Given the description of an element on the screen output the (x, y) to click on. 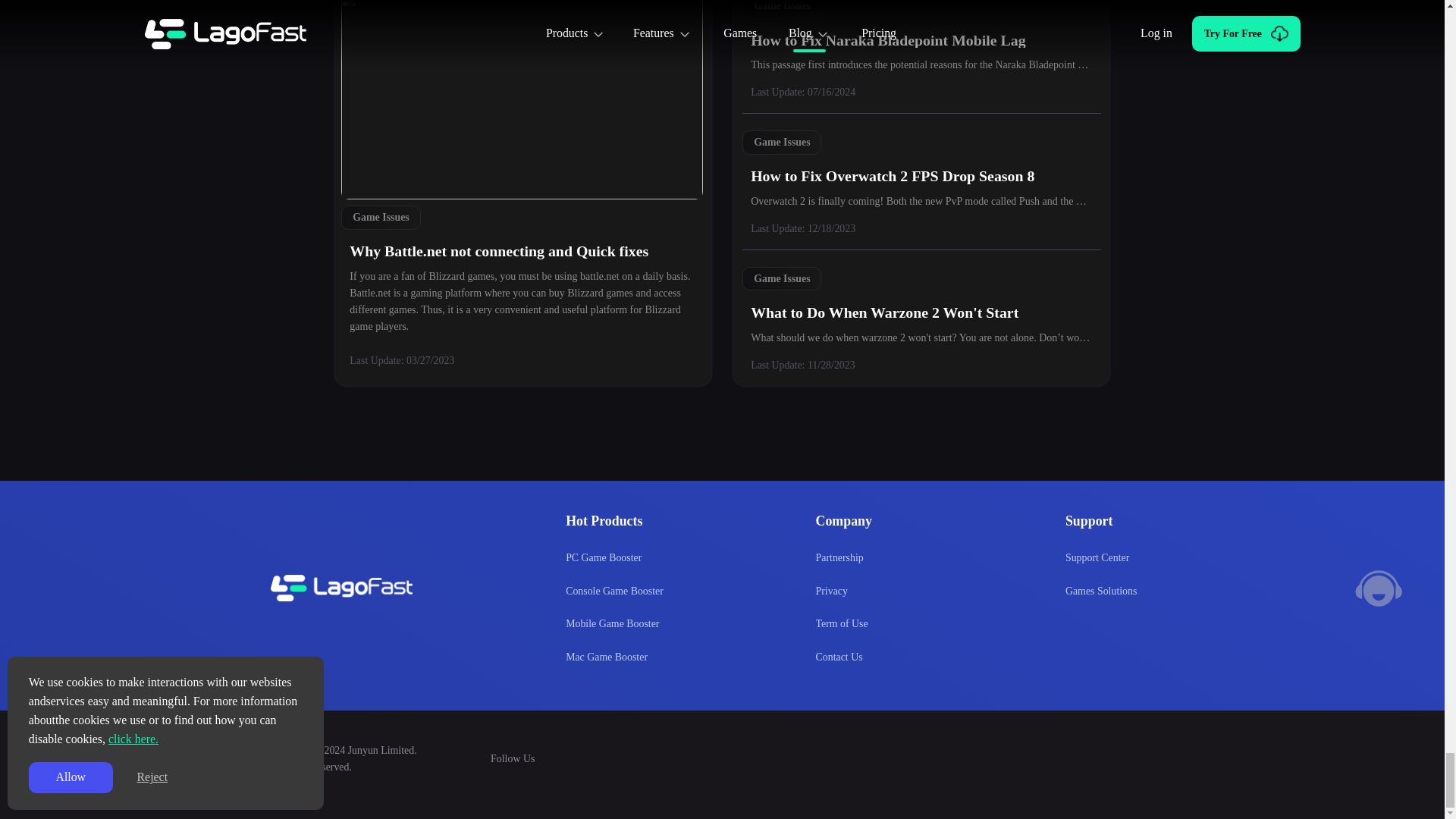
Twitch (873, 759)
Console Game Booster (614, 591)
Discord (566, 759)
Privacy (831, 591)
Facebook (770, 759)
Instagram (617, 759)
TikTok (719, 759)
Mac Game Booster (606, 657)
PC Game Booster (604, 557)
Mobile Game Booster (612, 623)
